Given the description of an element on the screen output the (x, y) to click on. 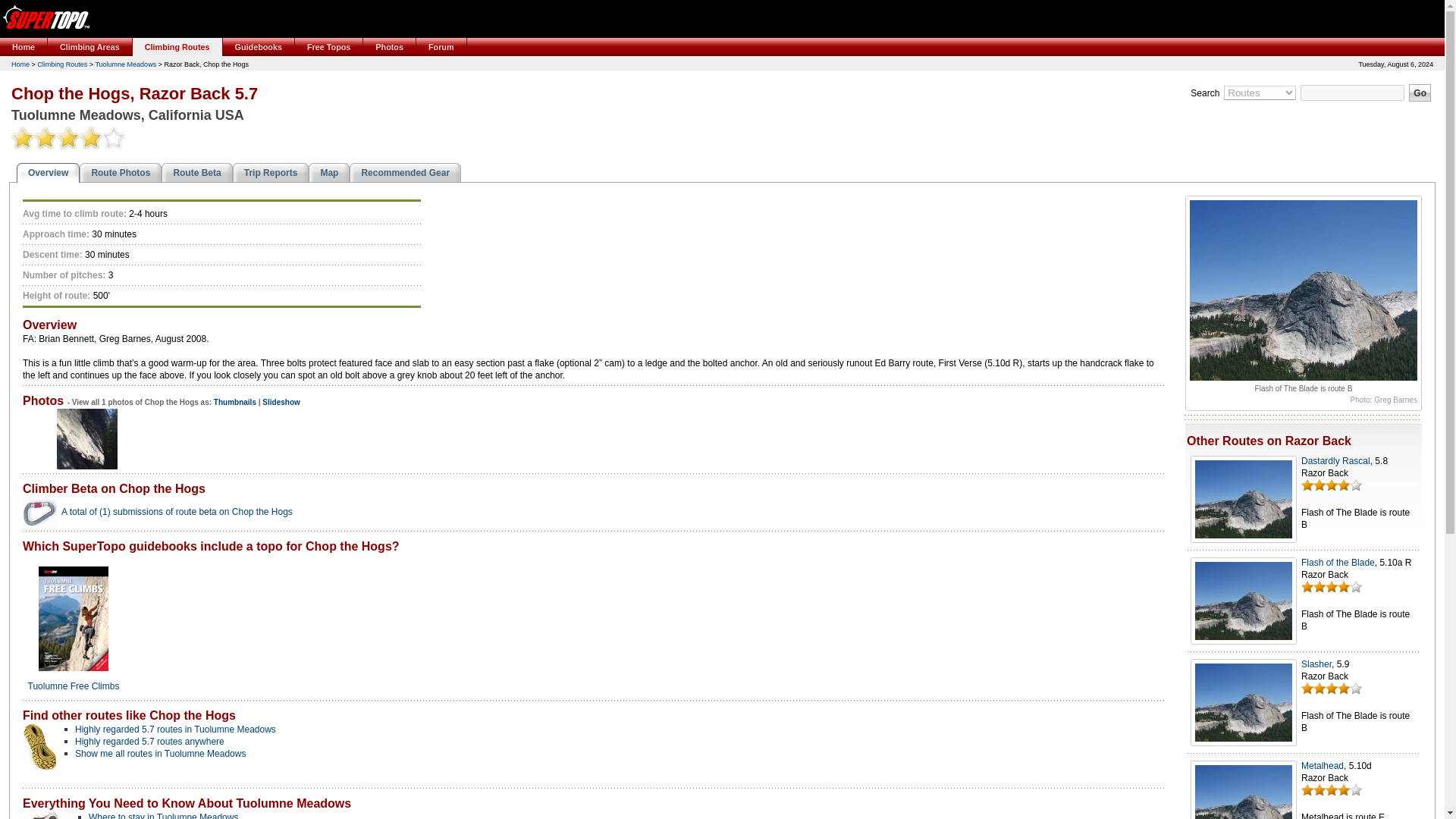
Climbing Routes (177, 46)
Climbing Areas (90, 46)
Home (24, 46)
Guidebooks (258, 46)
